Given the description of an element on the screen output the (x, y) to click on. 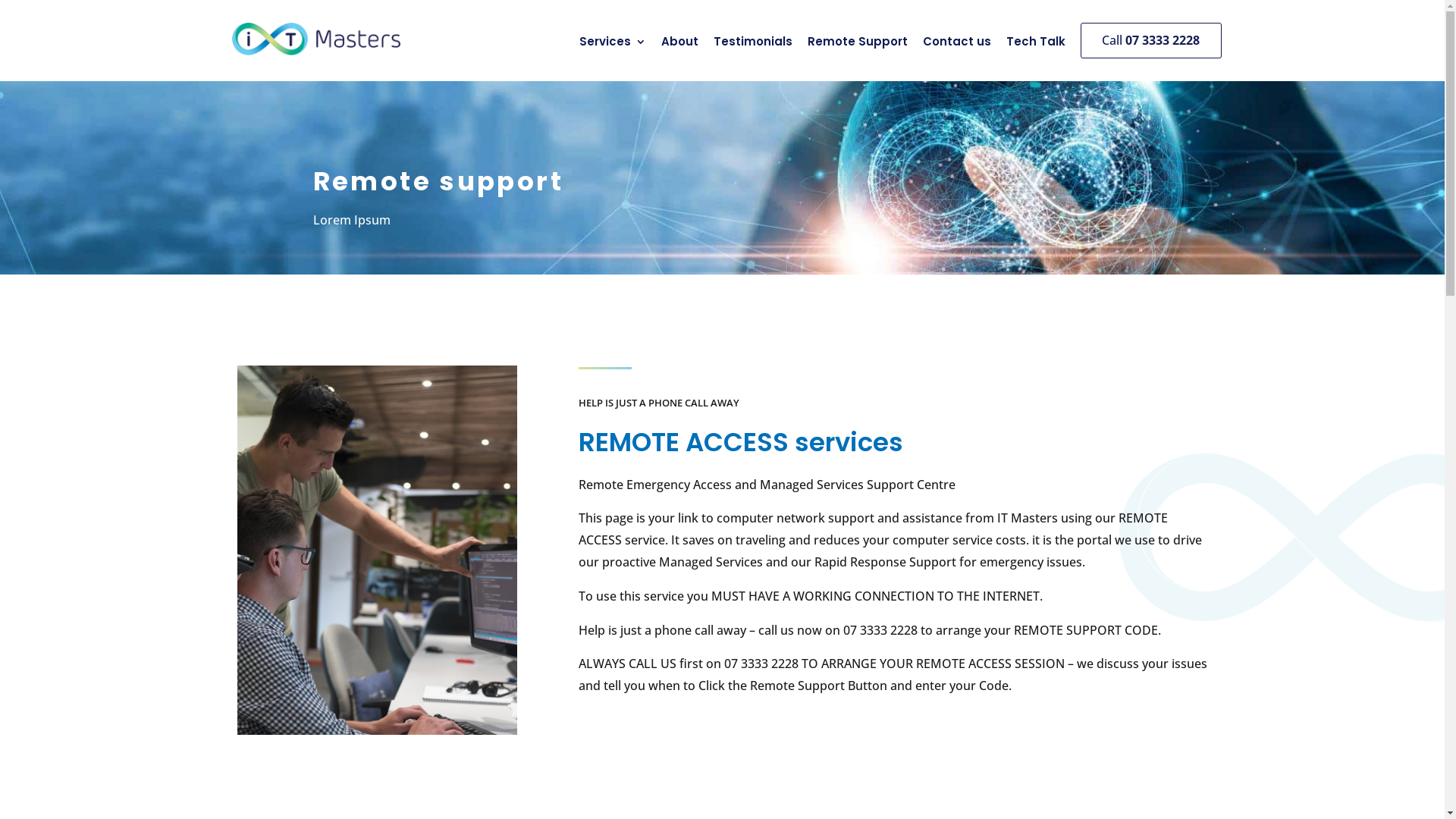
07 3333 2228 Element type: text (761, 663)
Testimonials Element type: text (747, 44)
Contact us Element type: text (951, 44)
Services Element type: text (608, 44)
07 3333 2228 Element type: text (880, 629)
Tech Talk Element type: text (1030, 44)
About Element type: text (675, 44)
07 3333 2228 Element type: text (1162, 39)
remote-IT-support-in-Brisabne Element type: hover (376, 550)
Remote Support Element type: text (851, 44)
IT Masters Computer Service Brisbane Element type: hover (316, 38)
